Given the description of an element on the screen output the (x, y) to click on. 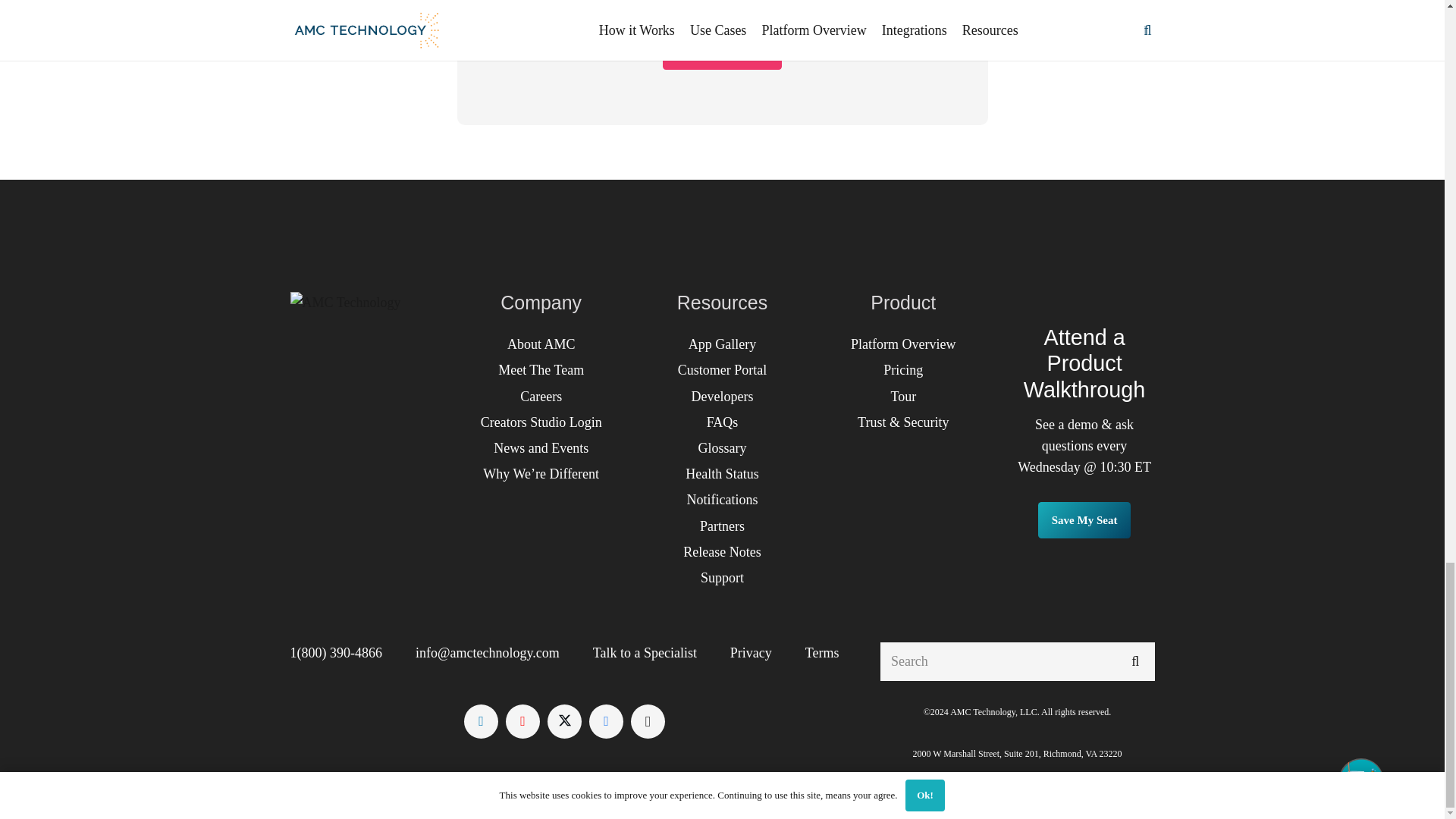
YouTube (522, 721)
Instagram (647, 721)
LinkedIn (480, 721)
Facebook (606, 721)
Twitter (563, 721)
